Given the description of an element on the screen output the (x, y) to click on. 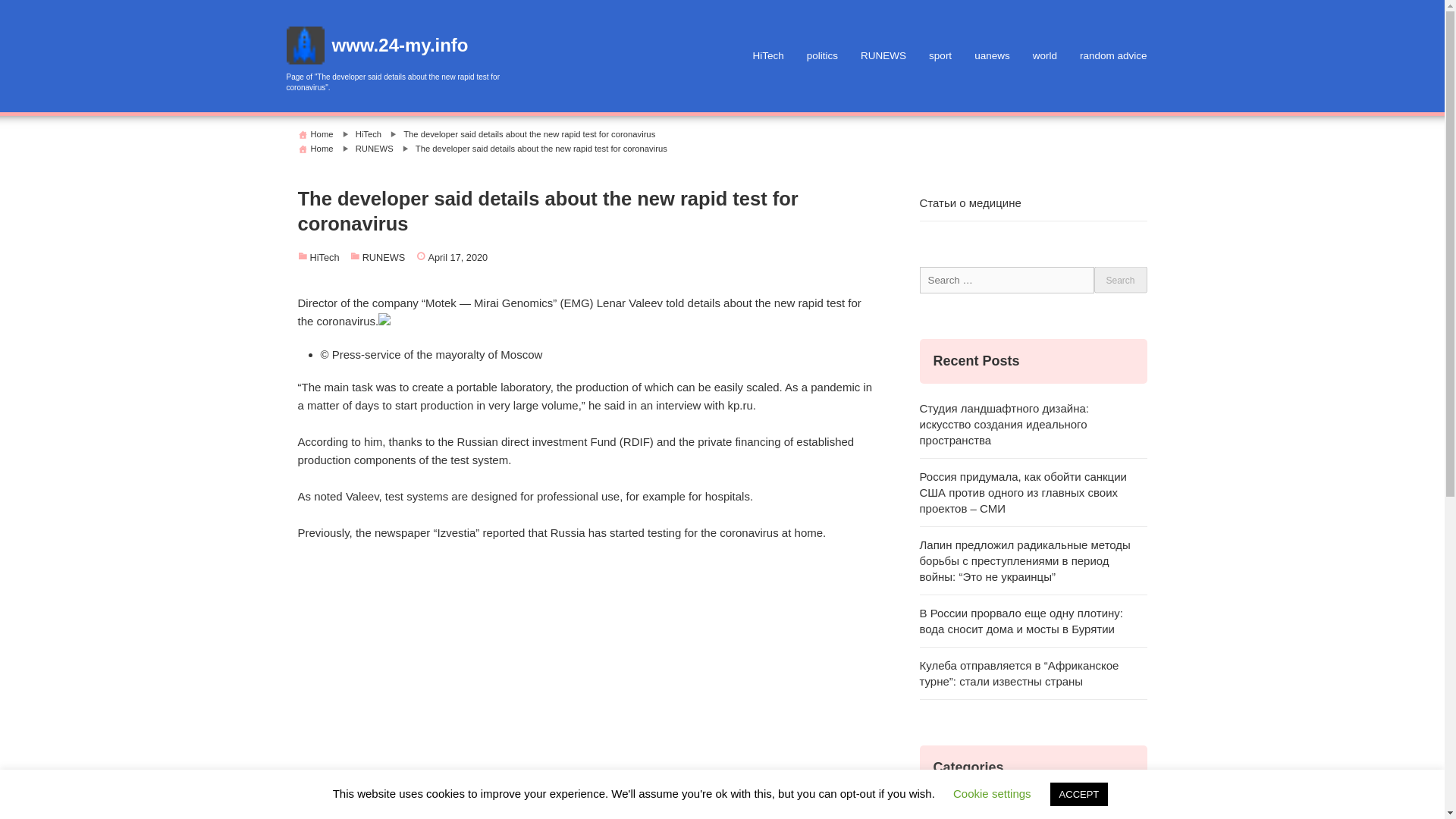
uanews (992, 55)
Search (1120, 279)
www.24-my.info (399, 45)
Home (322, 148)
Home (322, 133)
world (1045, 55)
Search (1120, 279)
www.24-my.info (399, 45)
random advice (1113, 55)
Search (1120, 279)
HiTech (767, 55)
RUNEWS (882, 55)
ACCEPT (1078, 793)
